Given the description of an element on the screen output the (x, y) to click on. 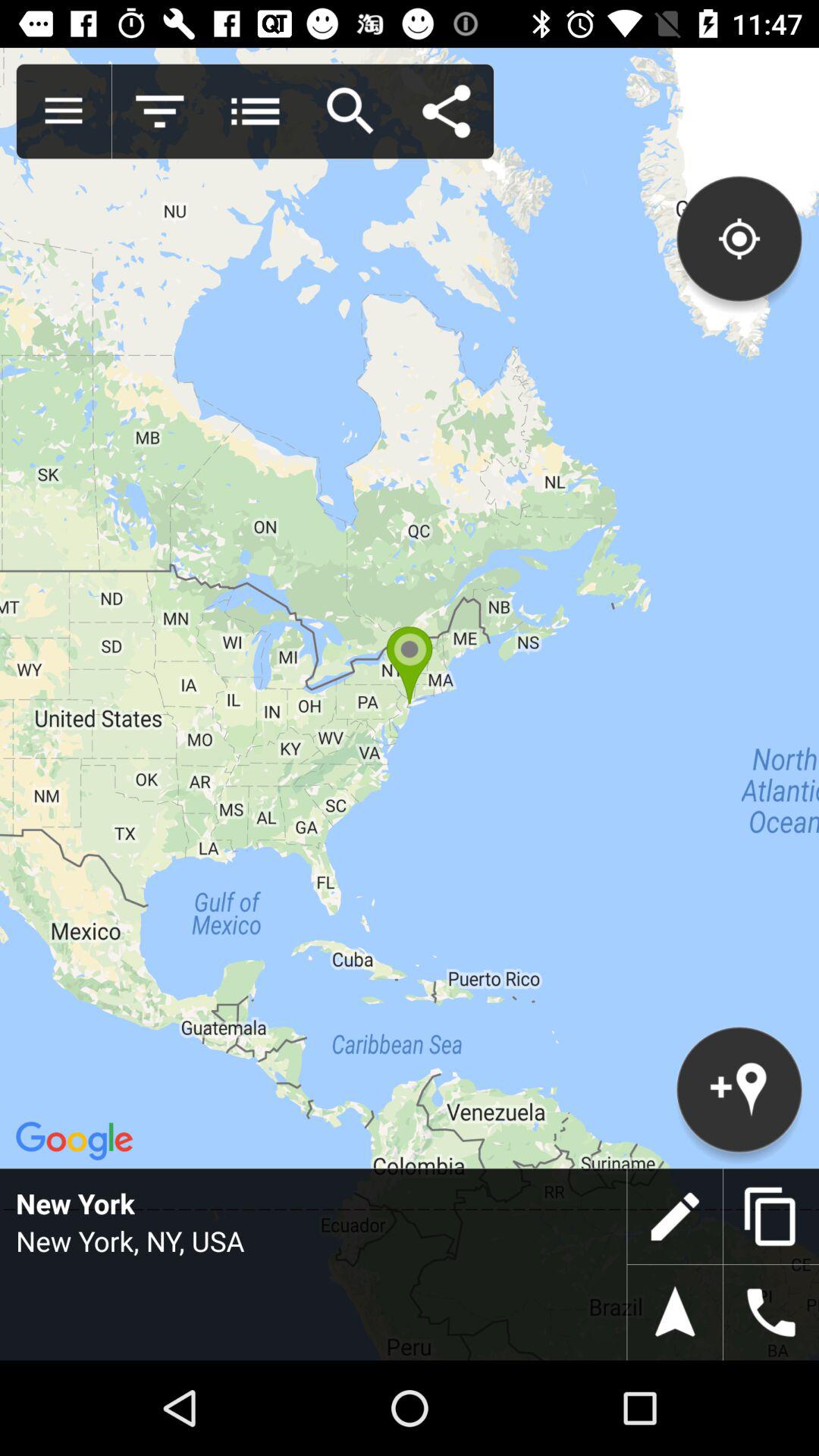
option button (255, 111)
